Given the description of an element on the screen output the (x, y) to click on. 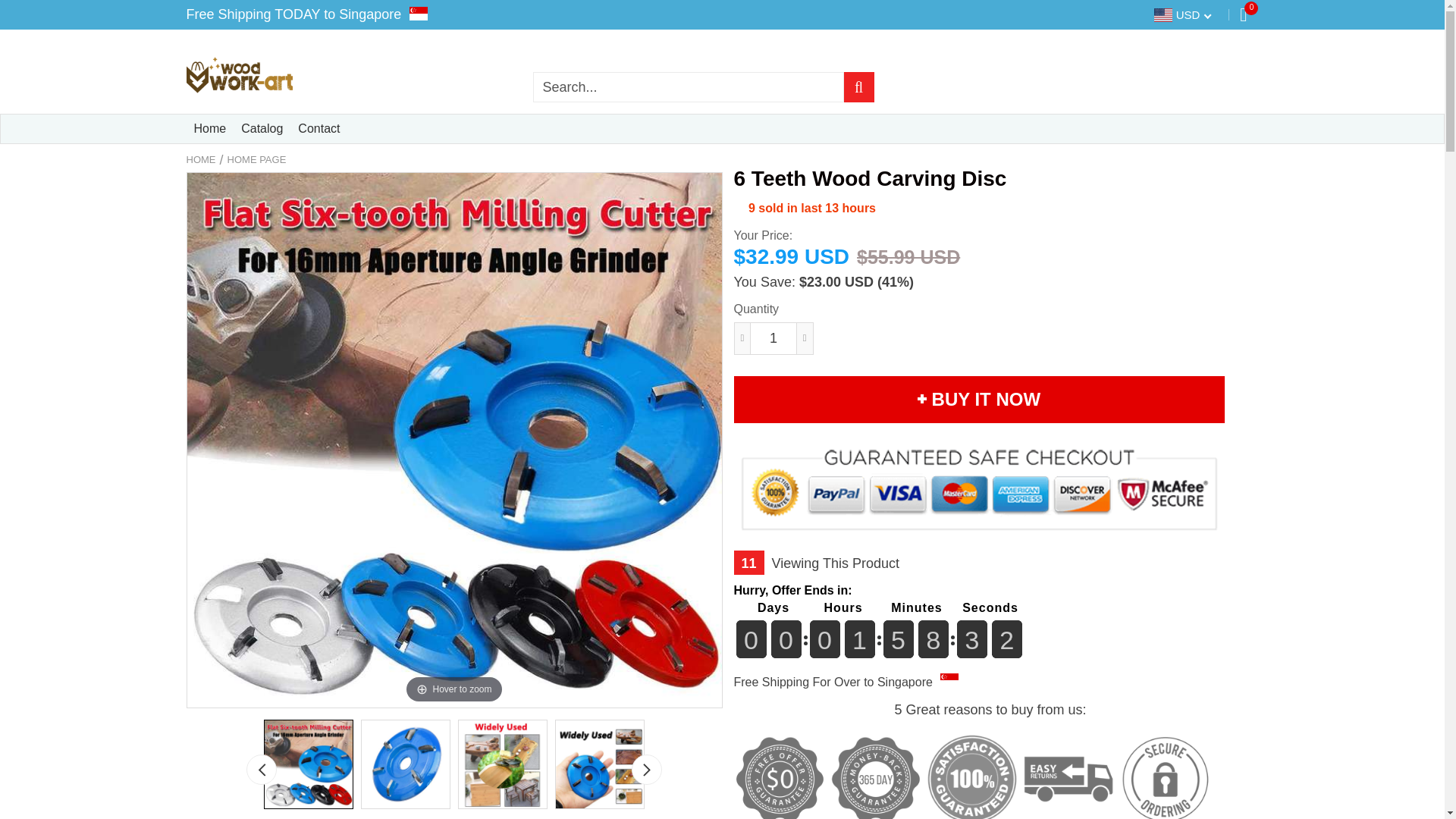
1 (772, 337)
Catalog (261, 128)
Contact (318, 128)
Back to the home page (200, 159)
Home (210, 128)
Free Shipping TODAY to (261, 14)
HOME (200, 159)
HOME PAGE (256, 159)
0 (1242, 14)
